Given the description of an element on the screen output the (x, y) to click on. 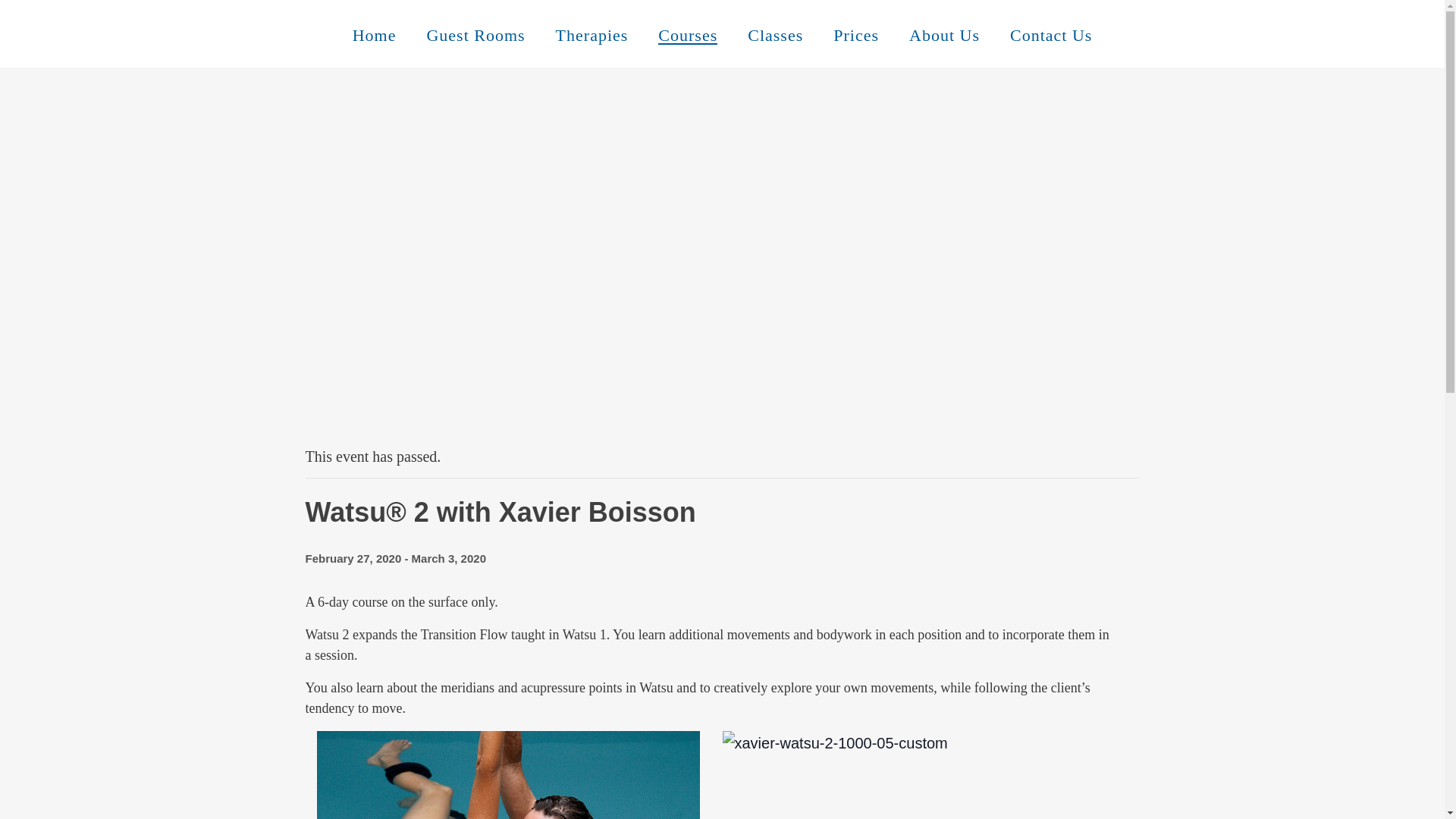
Home (374, 35)
Contact Us (1050, 35)
Prices (855, 35)
Courses (687, 35)
xavier-watsu-2-1000-05-custom (834, 743)
Courses (687, 35)
Therapies (591, 35)
Contact Us (1050, 35)
Prices (855, 35)
About Us (943, 35)
